Given the description of an element on the screen output the (x, y) to click on. 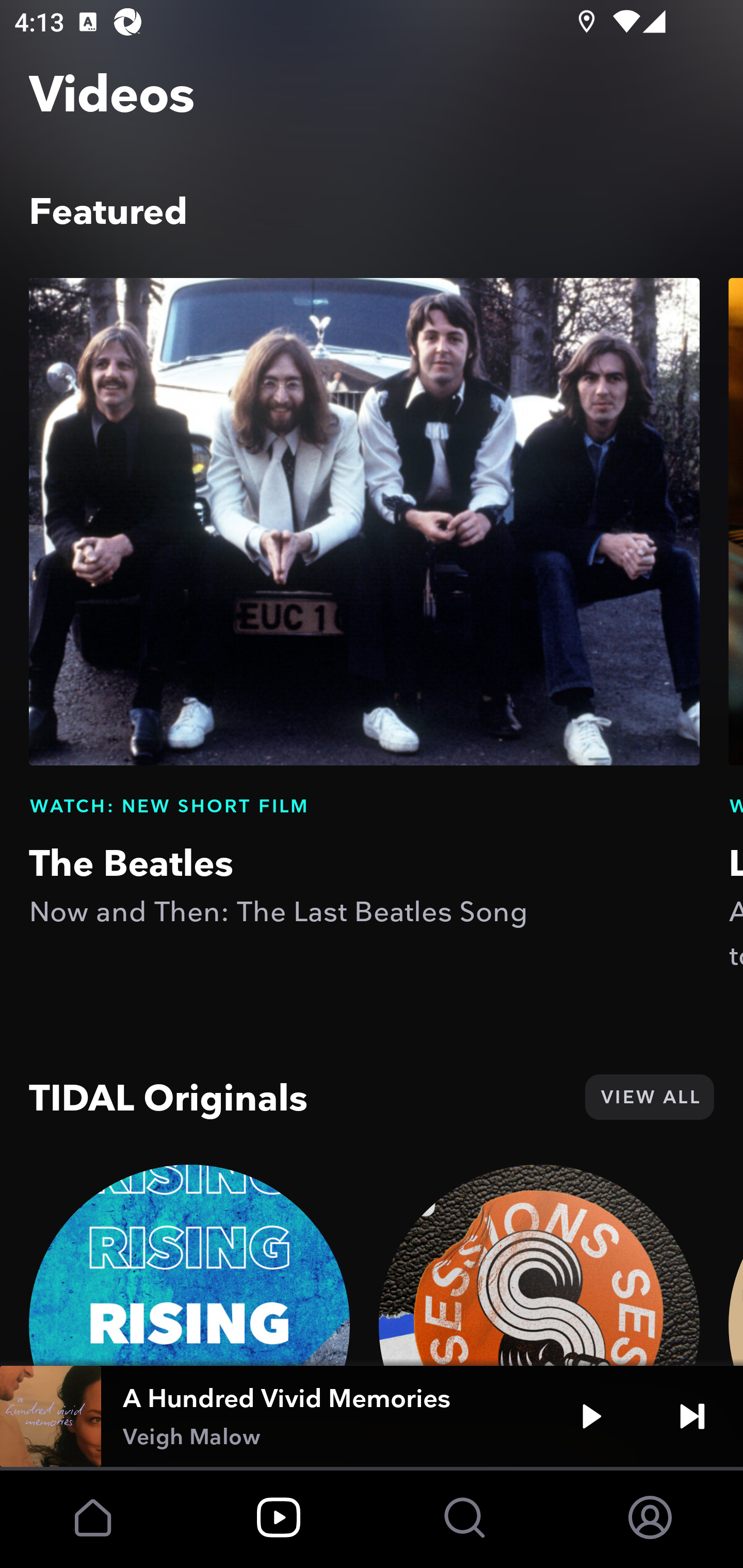
VIEW ALL (649, 1096)
A Hundred Vivid Memories Veigh Malow Play (371, 1416)
Play (590, 1416)
